Given the description of an element on the screen output the (x, y) to click on. 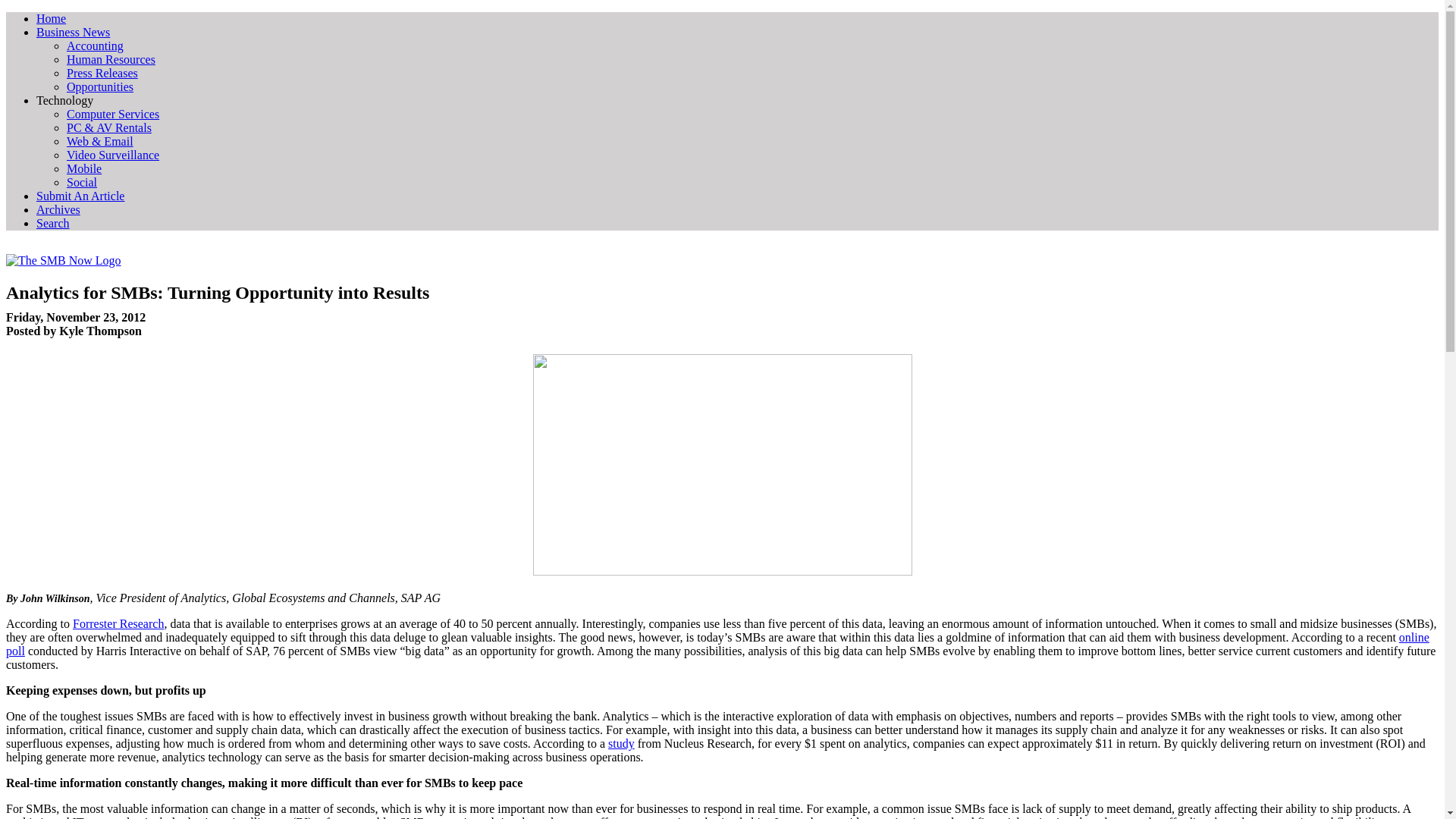
Forrester Research (117, 623)
SMB Now News (50, 18)
Video Surveillance (112, 154)
Human Resources (110, 59)
Technology (64, 100)
Mobile (83, 168)
Home (50, 18)
Submit An Article (79, 195)
Archives (58, 209)
Business News (73, 31)
